Given the description of an element on the screen output the (x, y) to click on. 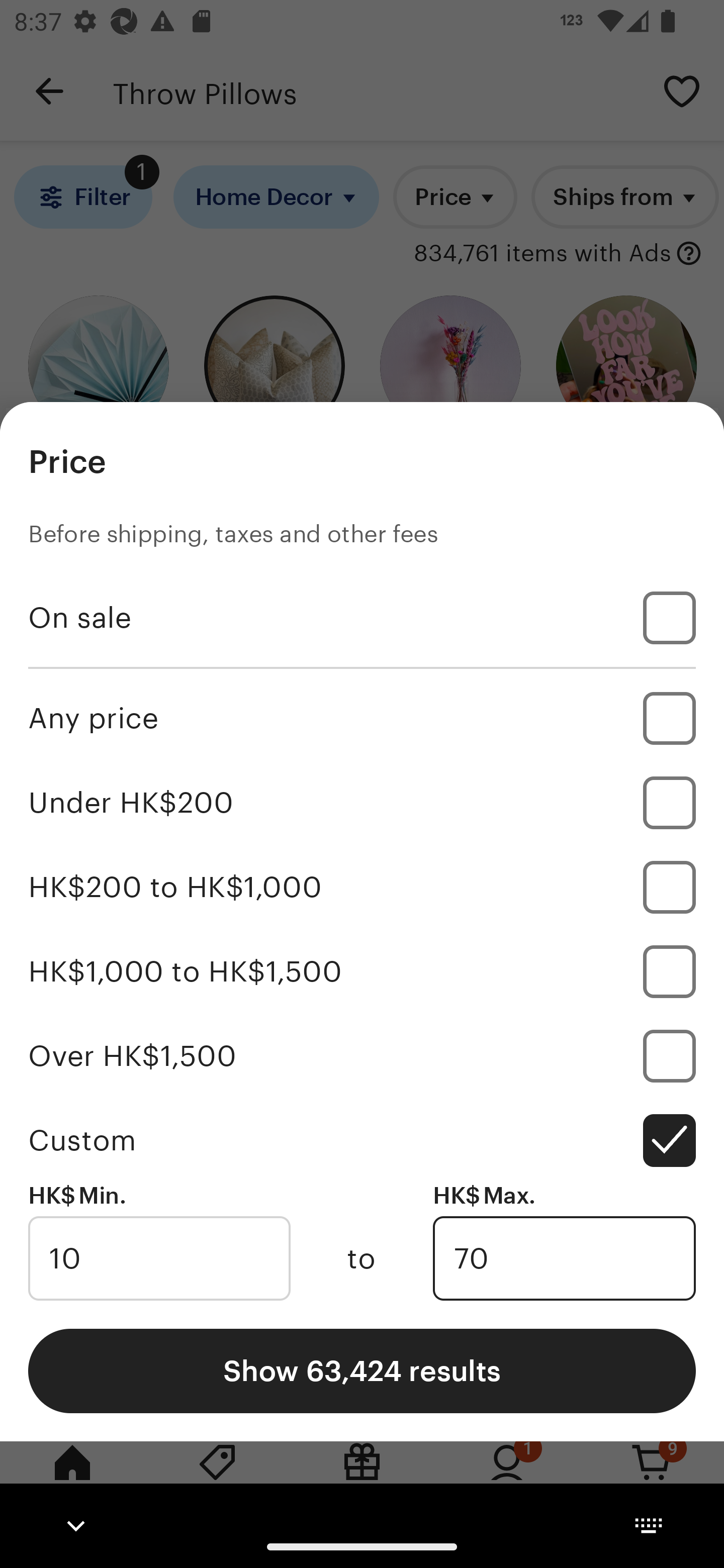
On sale (362, 617)
Any price (362, 717)
Under HK$200 (362, 802)
HK$200 to HK$1,000 (362, 887)
HK$1,000 to HK$1,500 (362, 970)
Over HK$1,500 (362, 1054)
Custom (362, 1139)
10 (159, 1257)
70 (563, 1257)
Show 63,424 results (361, 1370)
